Given the description of an element on the screen output the (x, y) to click on. 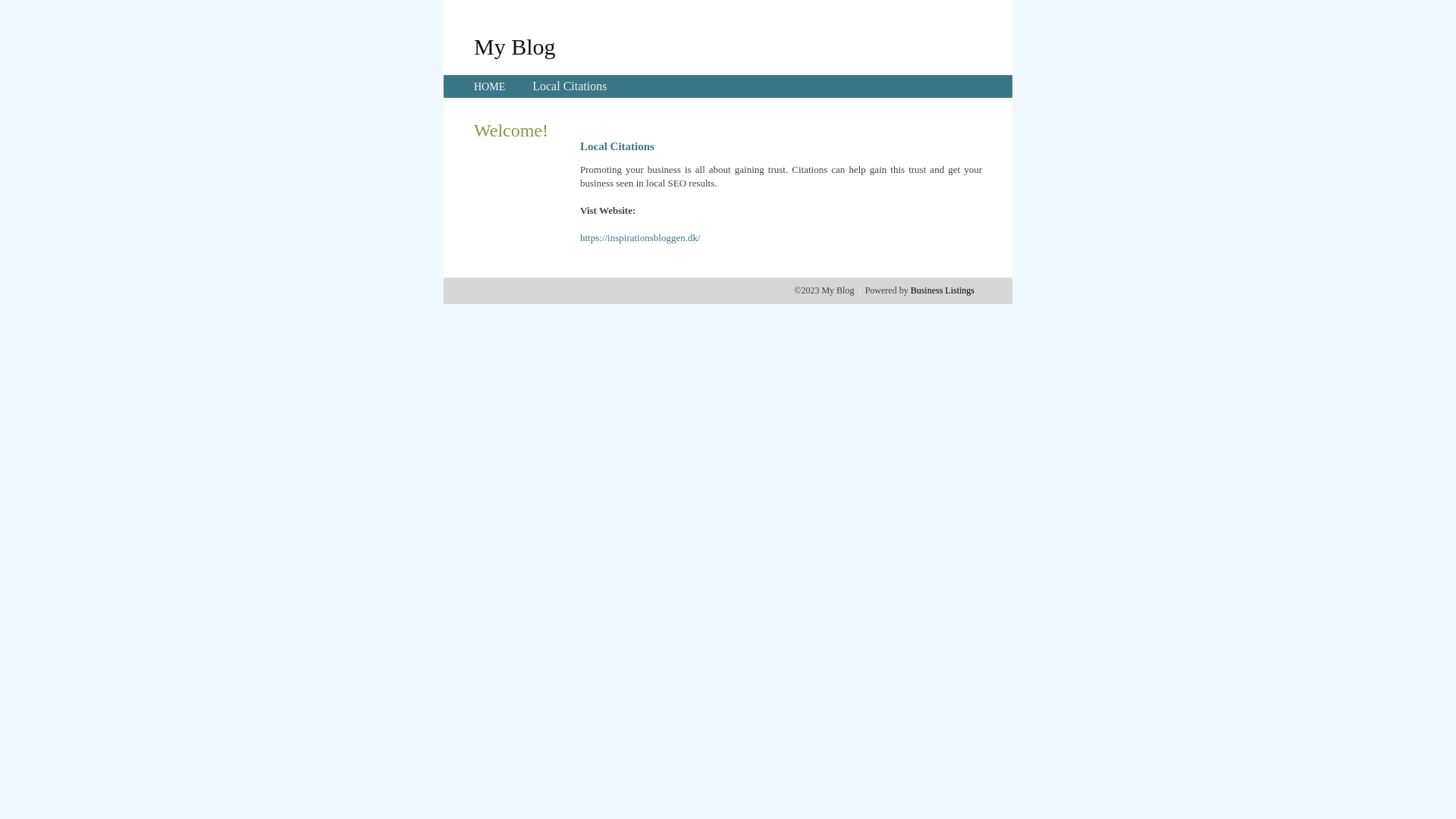
https://inspirationsbloggen.dk/ Element type: text (640, 237)
My Blog Element type: text (514, 46)
Business Listings Element type: text (942, 290)
Local Citations Element type: text (569, 85)
HOME Element type: text (489, 86)
